Given the description of an element on the screen output the (x, y) to click on. 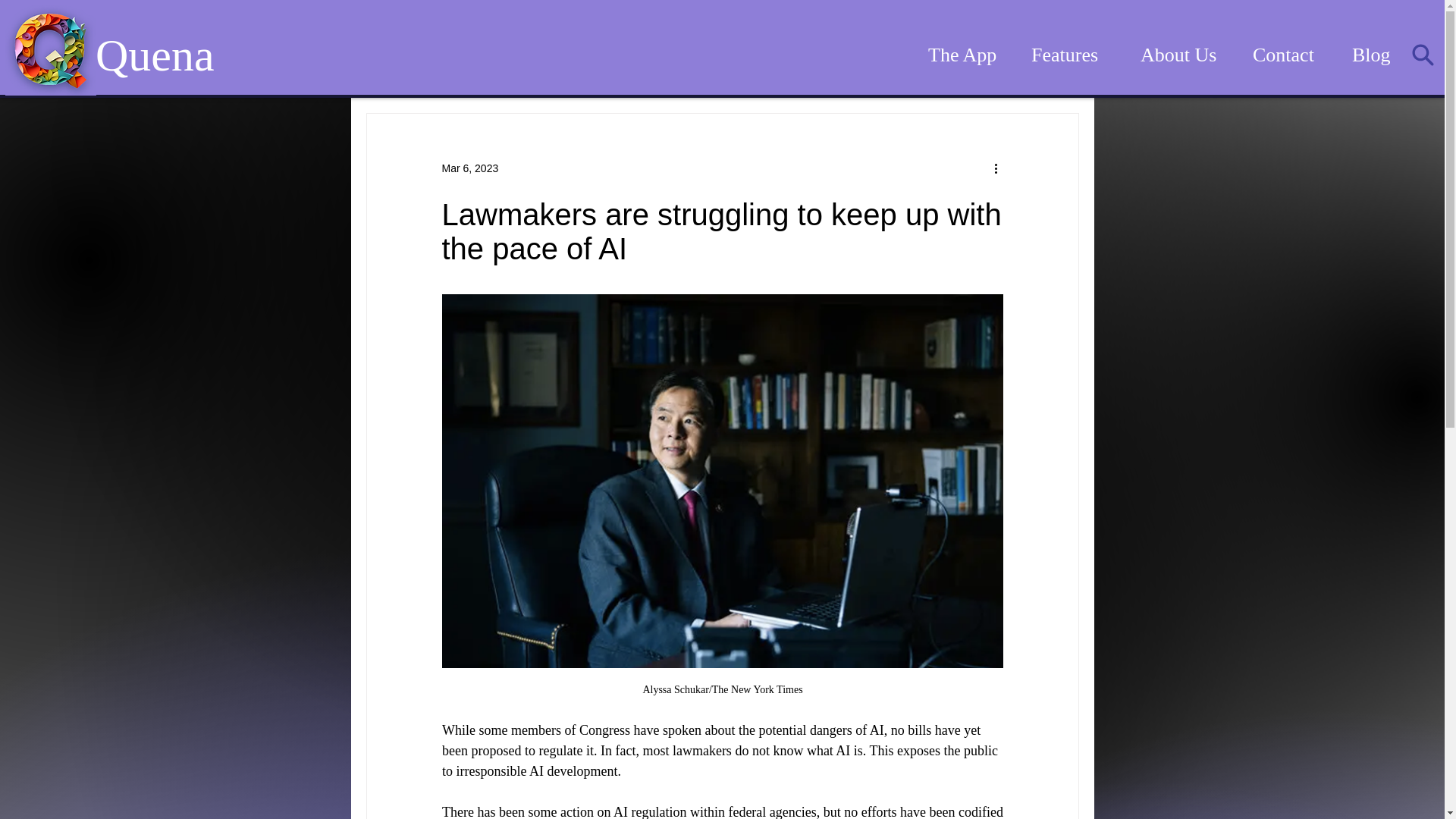
The App (968, 55)
Mar 6, 2023 (469, 168)
Contact (1290, 55)
Features (1074, 55)
Blog (1374, 55)
About Us (1185, 55)
